Given the description of an element on the screen output the (x, y) to click on. 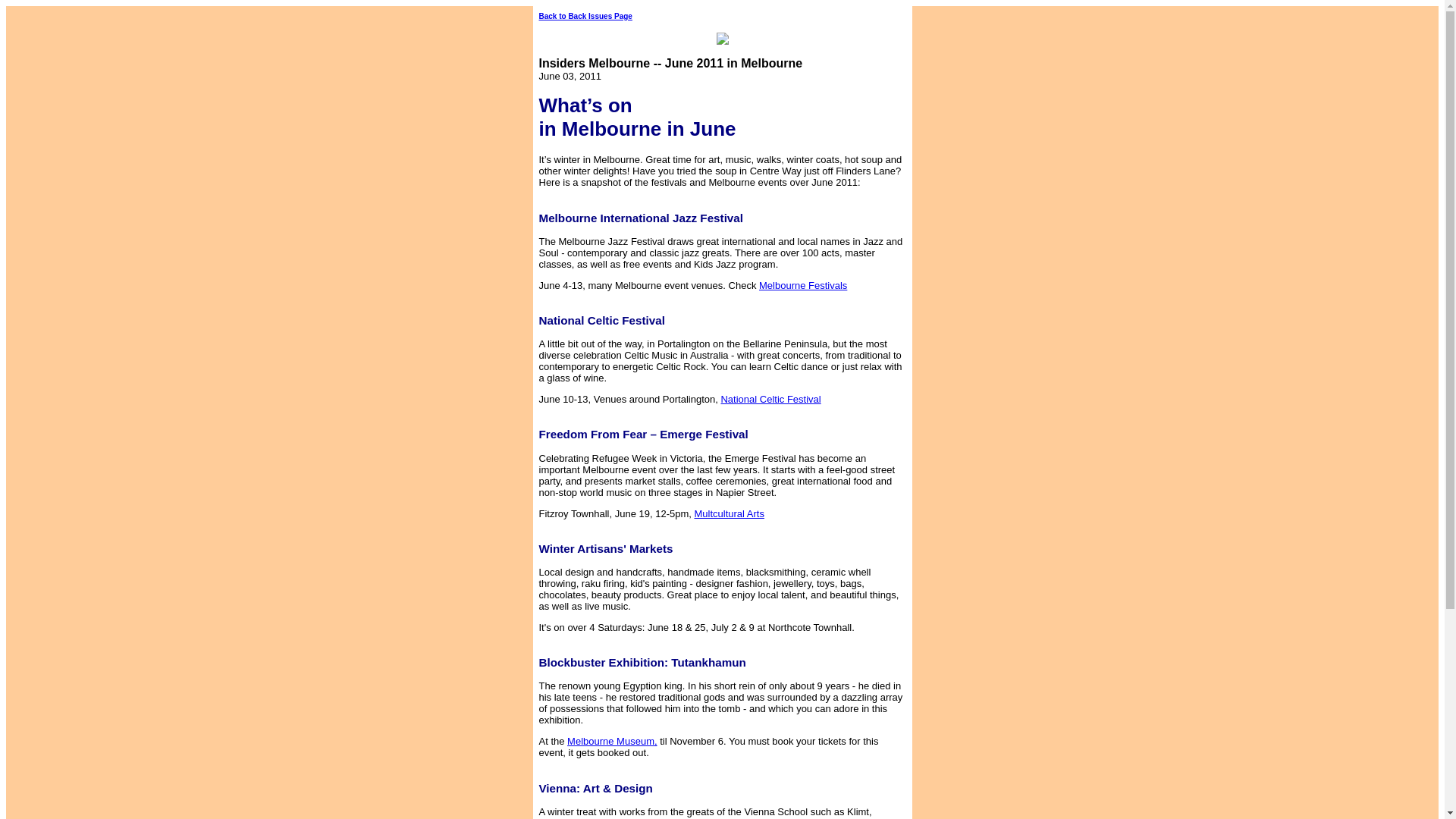
Multcultural Arts (806, 518)
Melbourne Festivals (912, 291)
Melbourne Museum, (612, 740)
Back to Back Issues Page (584, 16)
National Celtic Festival (861, 404)
